Given the description of an element on the screen output the (x, y) to click on. 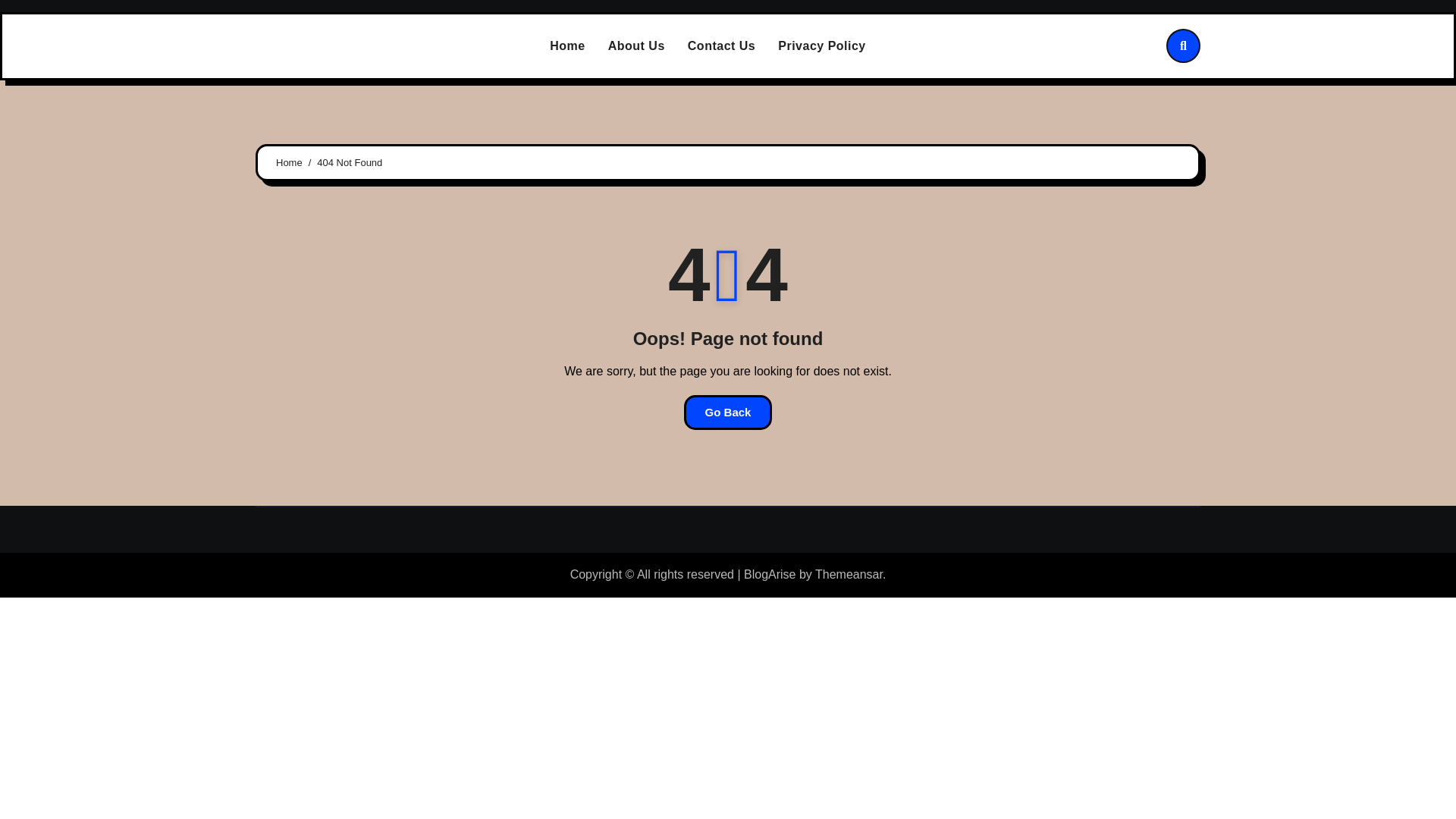
Home (566, 46)
Contact Us (722, 46)
Privacy Policy (822, 46)
Home (566, 46)
BlogArise (769, 574)
About Us (636, 46)
Home (289, 162)
Contact Us (722, 46)
Go Back (728, 411)
Privacy Policy (822, 46)
Themeansar (848, 574)
About Us (636, 46)
